Given the description of an element on the screen output the (x, y) to click on. 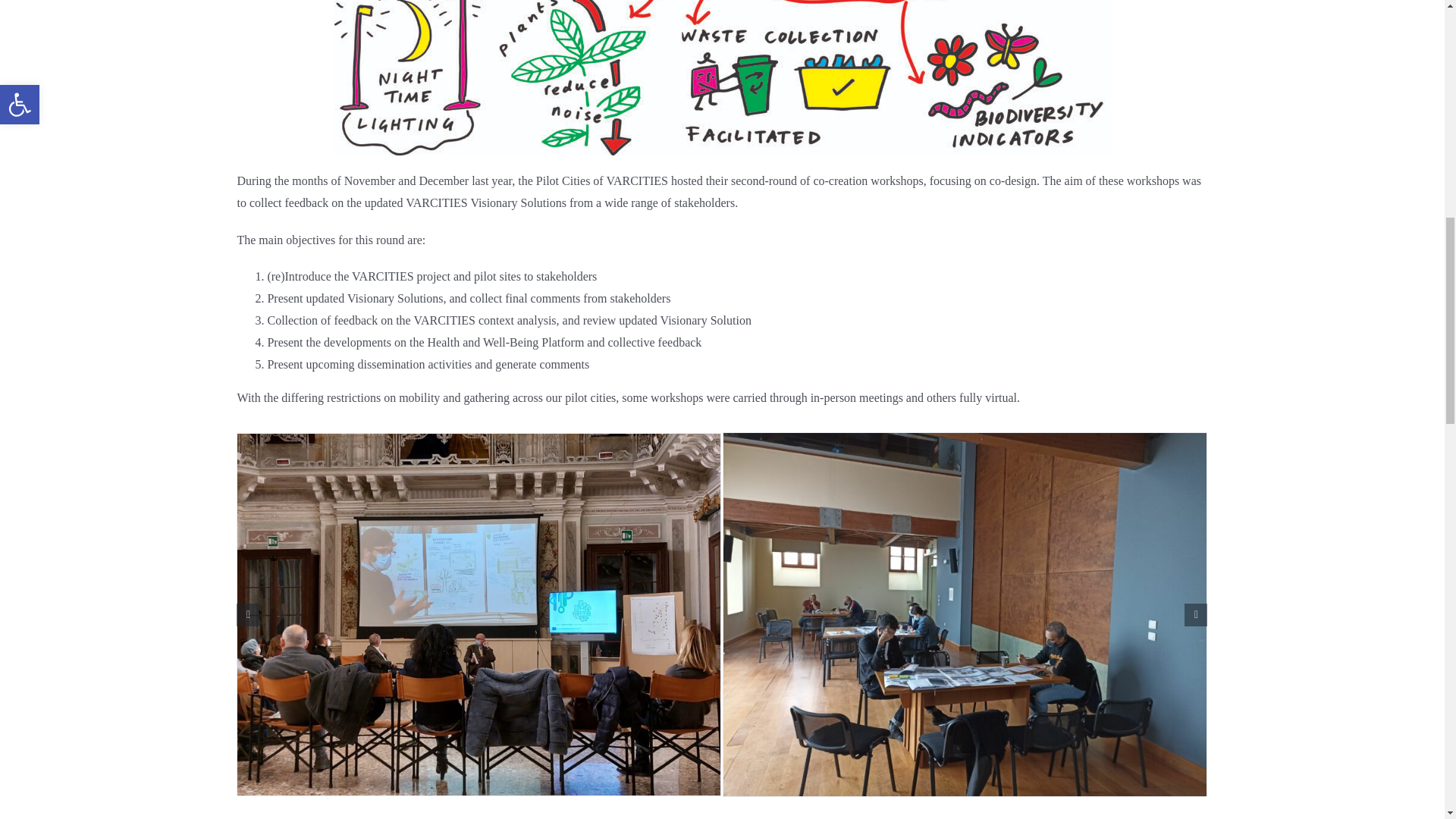
Print (721, 77)
